Given the description of an element on the screen output the (x, y) to click on. 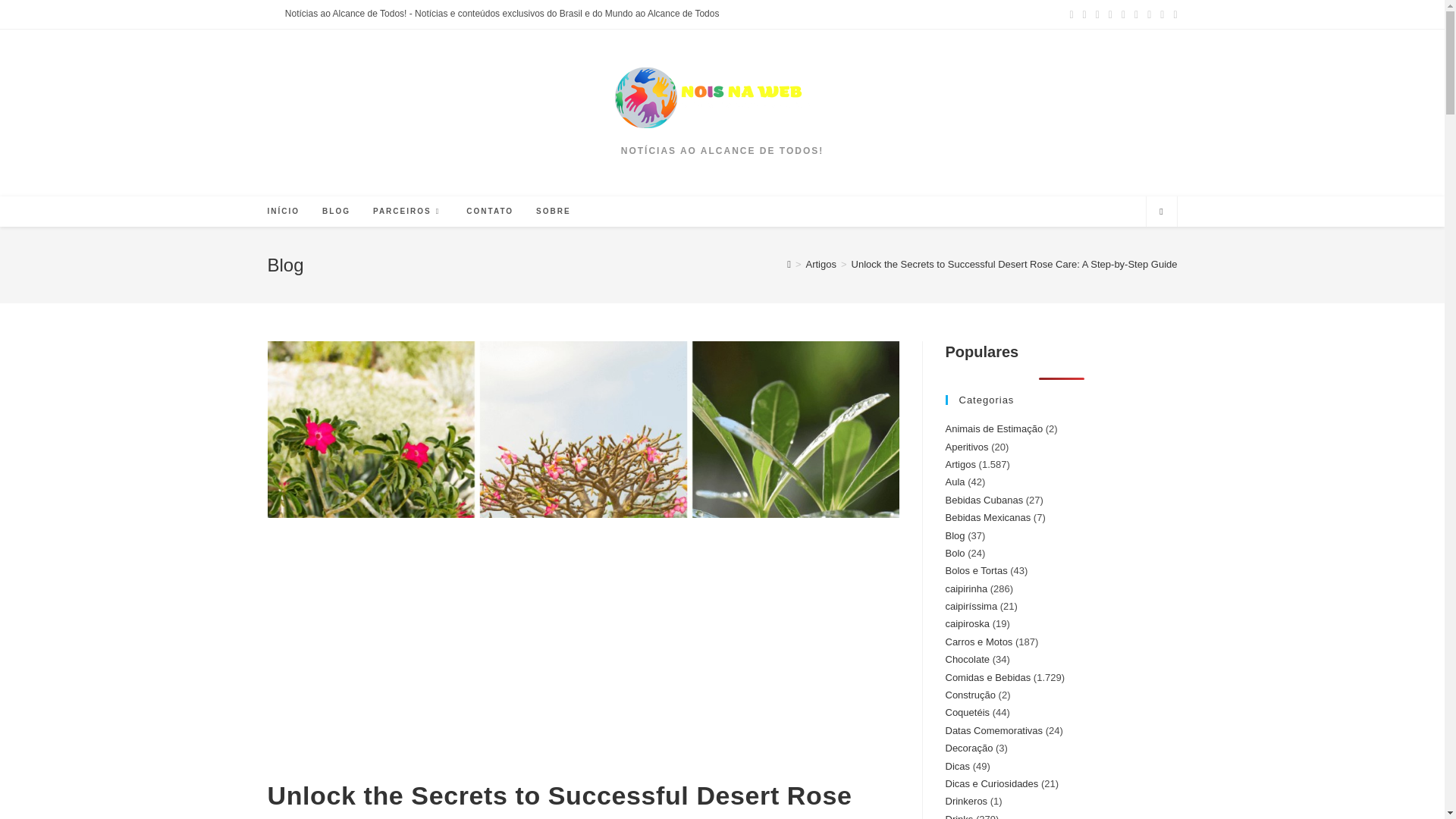
BLOG (336, 211)
Artigos (820, 264)
SOBRE (553, 211)
CONTATO (489, 211)
PARCEIROS (407, 211)
